Given the description of an element on the screen output the (x, y) to click on. 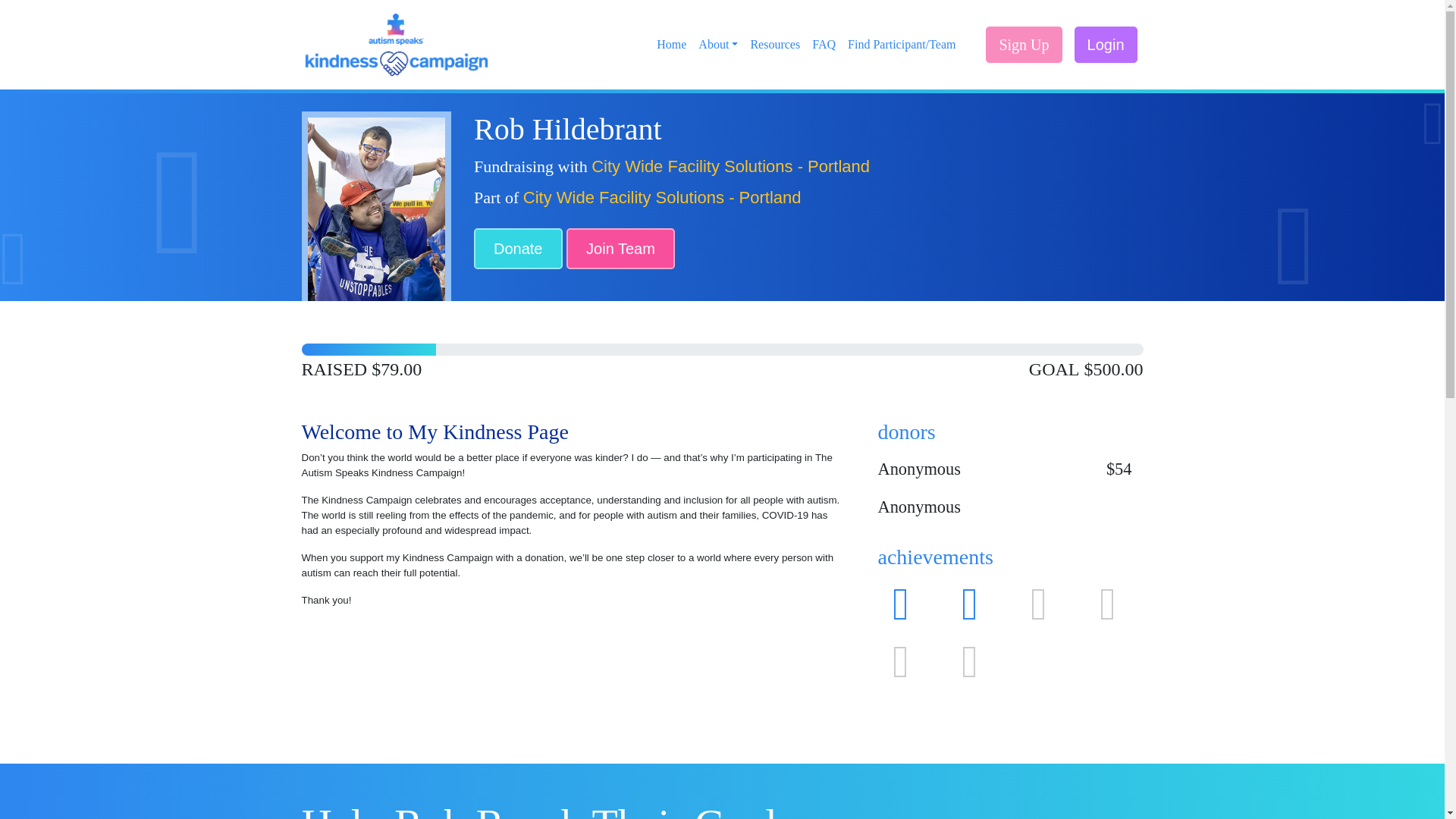
Login (1105, 44)
FAQ (823, 44)
City Wide Facility Solutions - Portland (662, 197)
Donate (518, 248)
Join Team (620, 248)
About (718, 44)
Sign Up (1023, 44)
Resources (775, 44)
Home (671, 44)
City Wide Facility Solutions - Portland (730, 166)
